Given the description of an element on the screen output the (x, y) to click on. 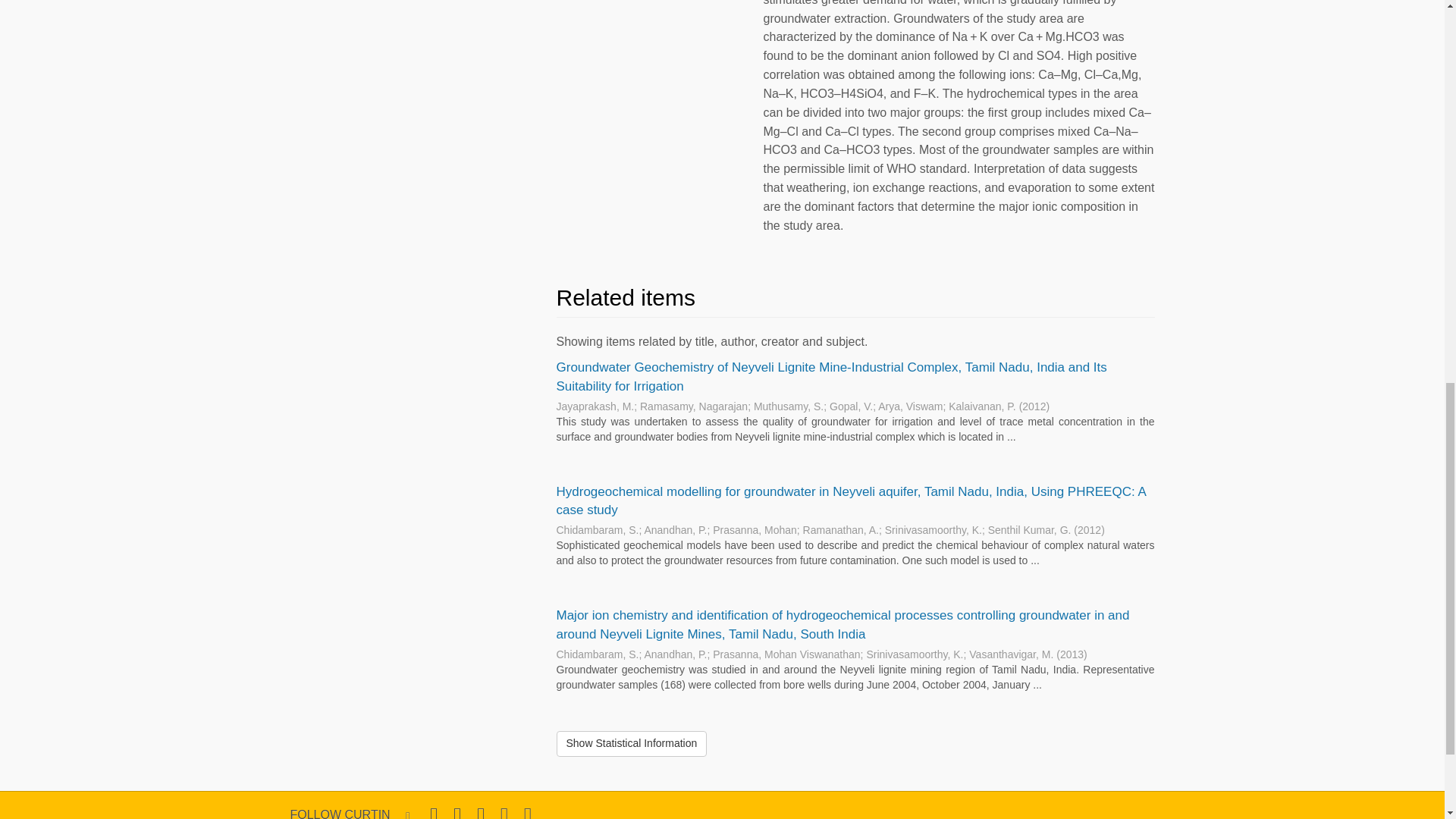
Show Statistical Information (631, 743)
